Given the description of an element on the screen output the (x, y) to click on. 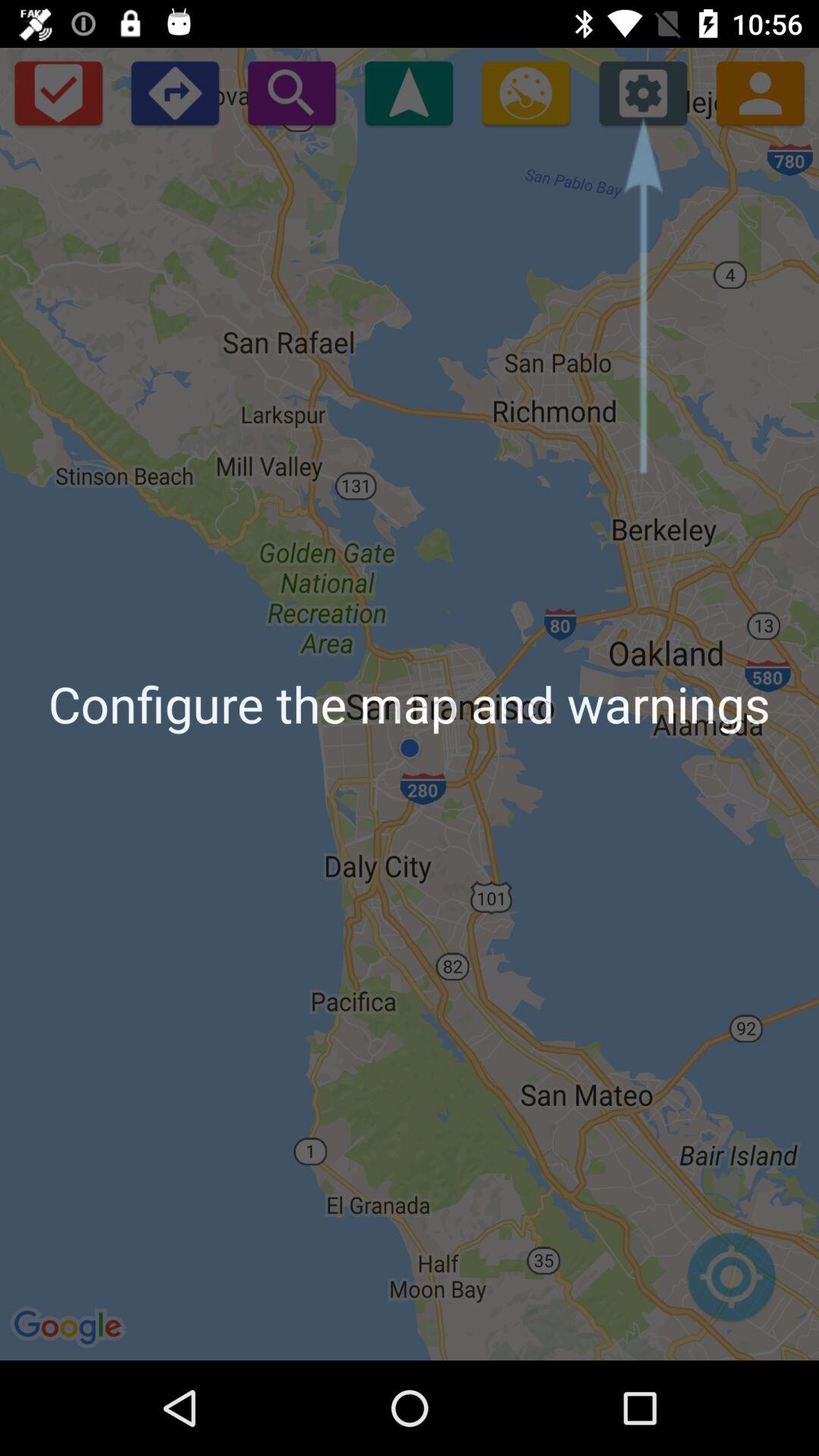
open app above the configure the map icon (174, 92)
